Given the description of an element on the screen output the (x, y) to click on. 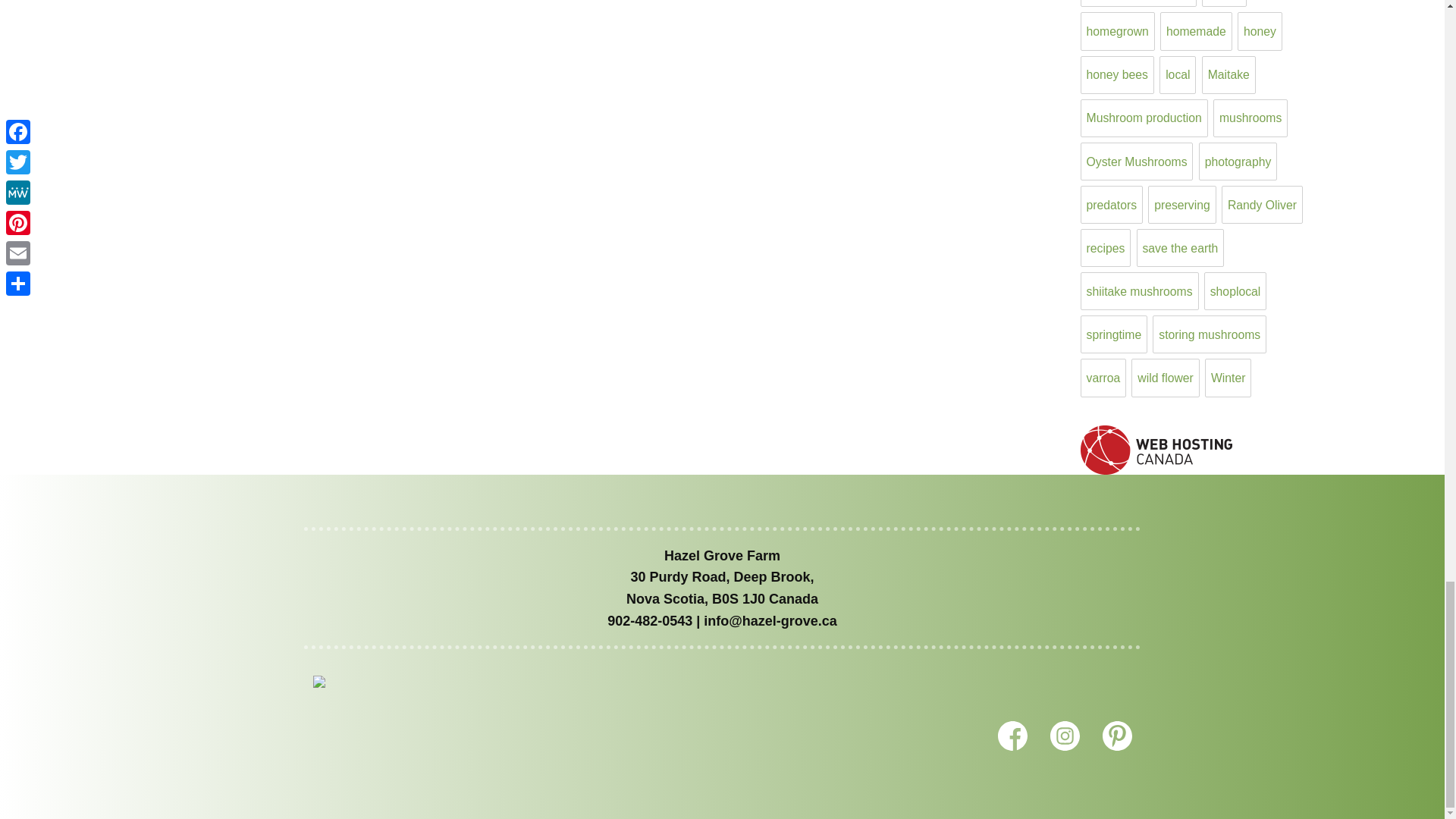
facebook (1012, 735)
instagram (1063, 735)
pinterest (1117, 735)
